Given the description of an element on the screen output the (x, y) to click on. 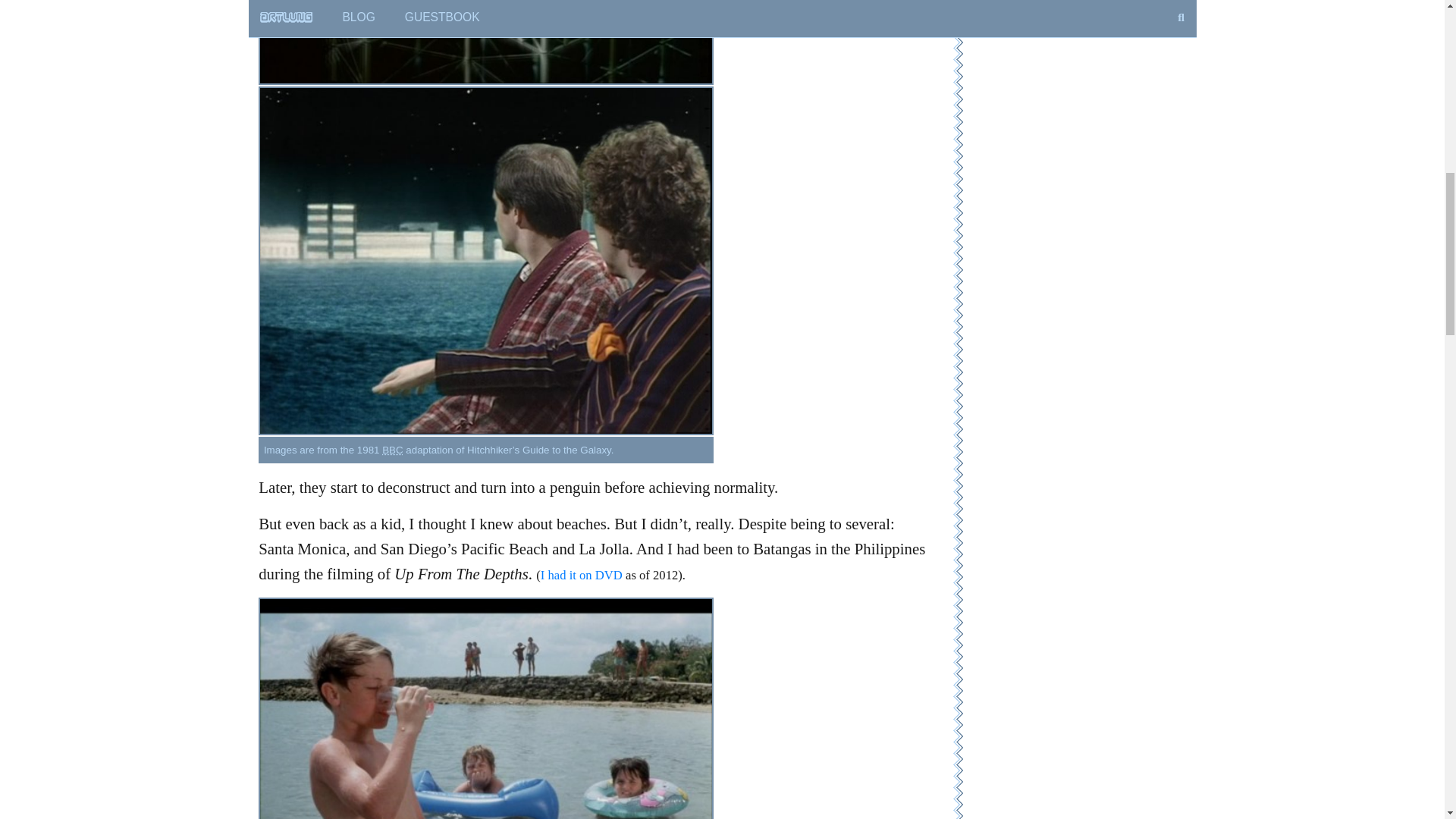
I had it on DVD (581, 575)
